Given the description of an element on the screen output the (x, y) to click on. 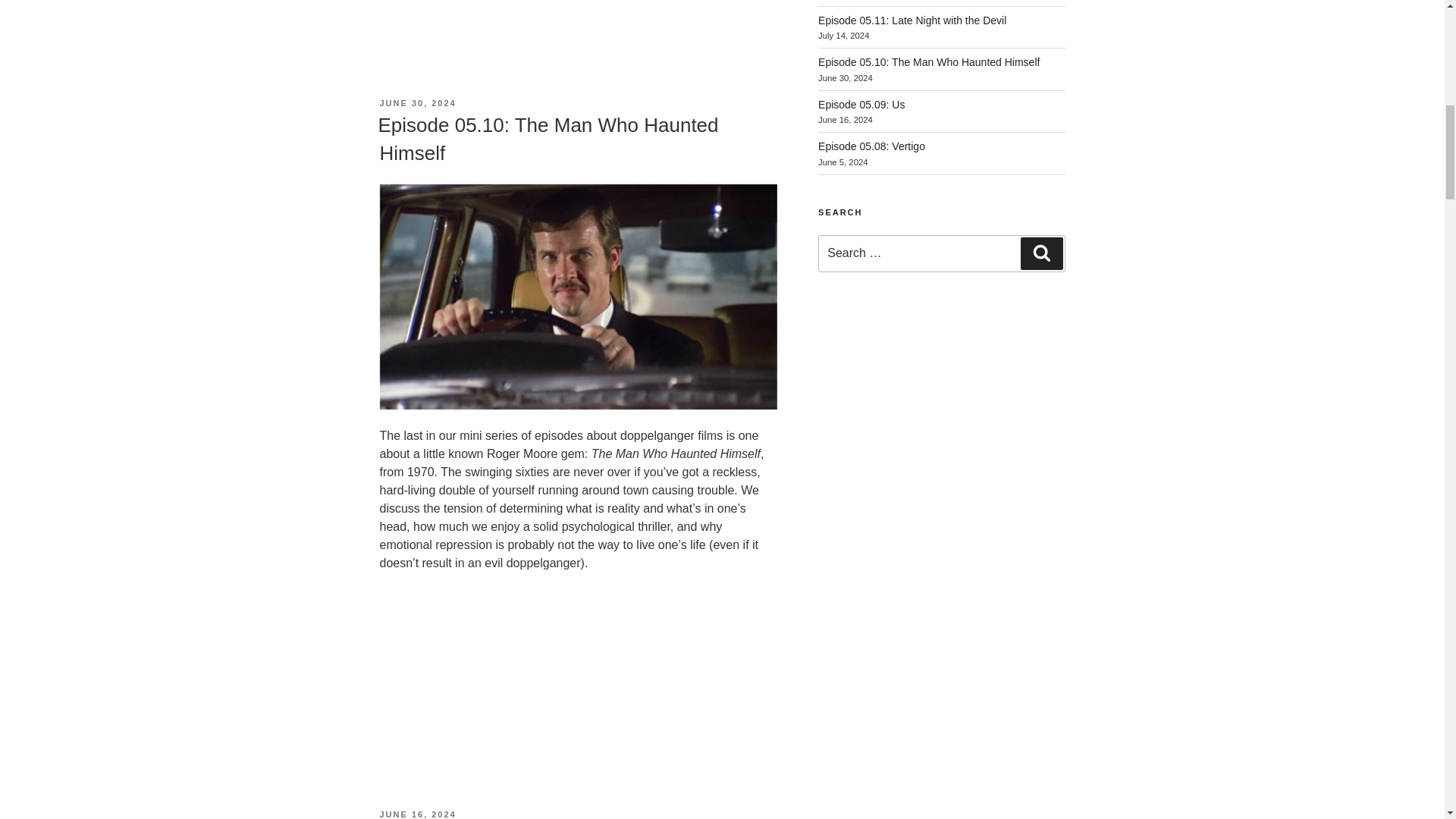
JUNE 16, 2024 (416, 814)
JUNE 30, 2024 (416, 102)
Episode 05.10: The Man Who Haunted Himself (547, 138)
Embed Player (577, 663)
Embed Player (577, 12)
